Given the description of an element on the screen output the (x, y) to click on. 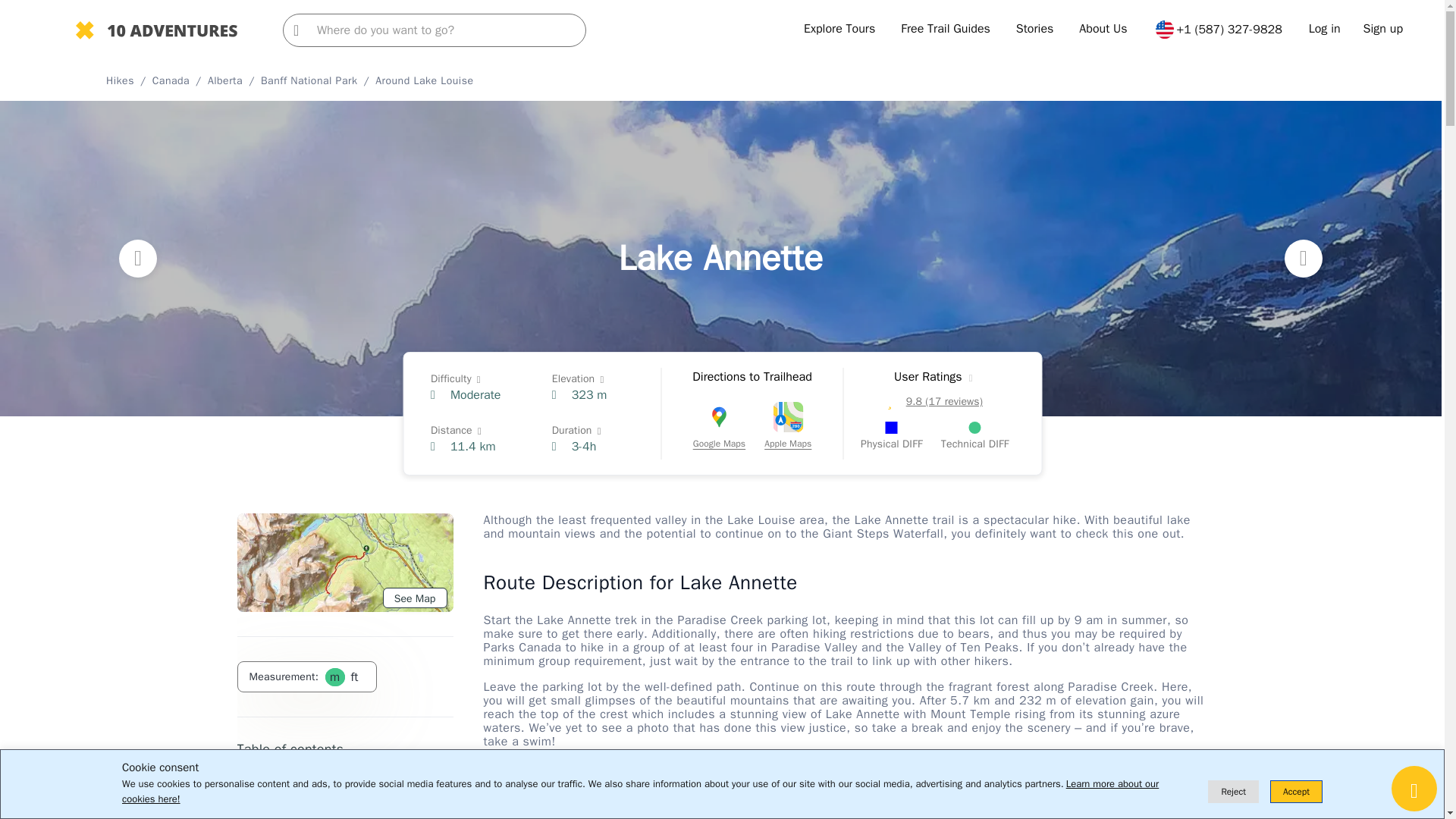
Log in (1324, 28)
Canada (170, 80)
metric (333, 676)
View images (265, 779)
Banff National Park (309, 80)
Google Maps (718, 428)
Around Lake Louise (424, 80)
Free Trail Guides (945, 28)
About Us (1102, 28)
Hikes (119, 80)
10Adventures.com (156, 31)
Sign up (1382, 28)
Alberta (225, 80)
Route description (276, 804)
Explore Tours (839, 28)
